Given the description of an element on the screen output the (x, y) to click on. 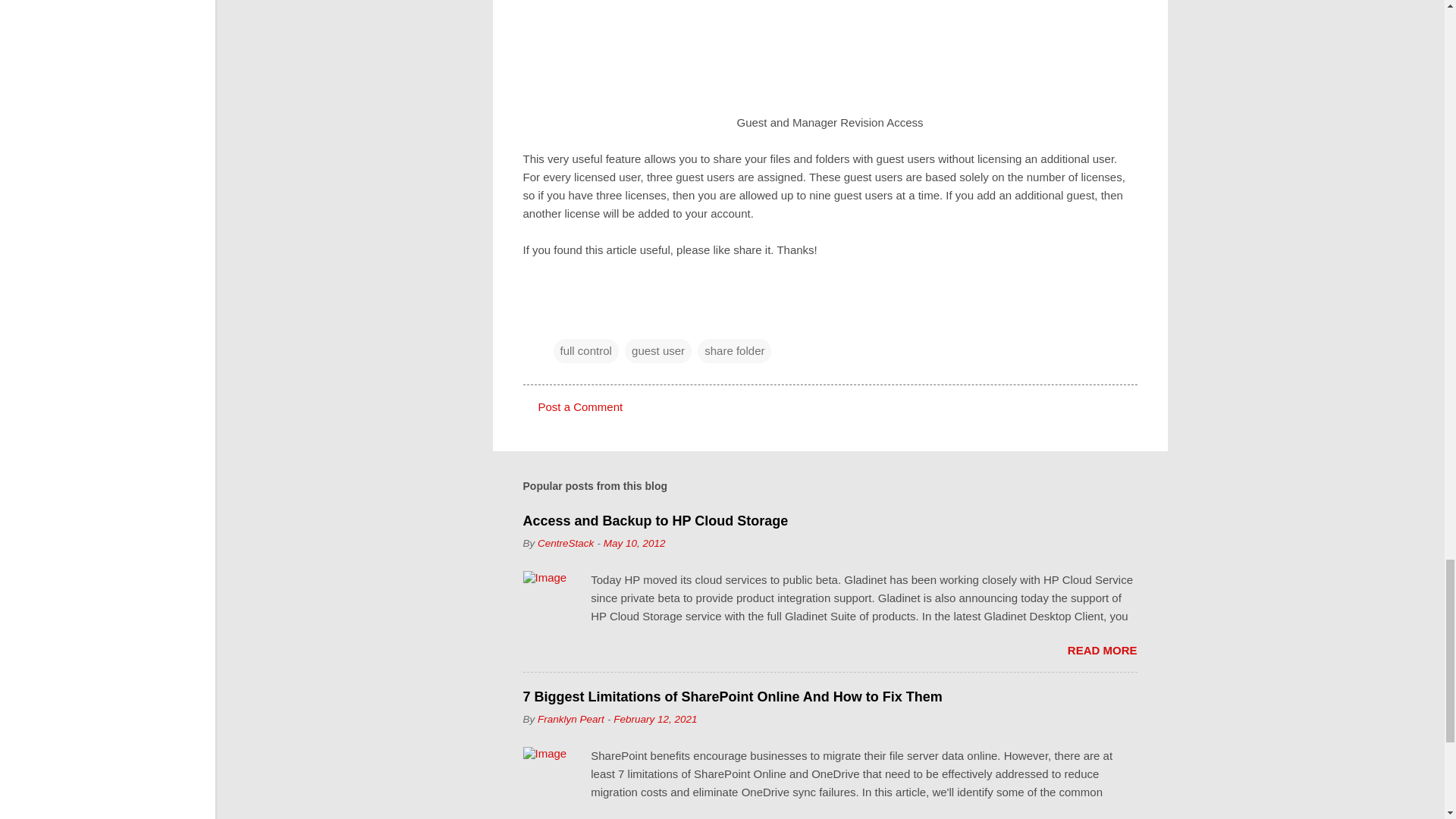
READ MORE (1102, 649)
February 12, 2021 (654, 718)
guest user (657, 351)
Email Post (562, 319)
Franklyn Peart (570, 718)
Post a Comment (580, 406)
author profile (565, 542)
full control (585, 351)
Access and Backup to HP Cloud Storage (655, 520)
